Given the description of an element on the screen output the (x, y) to click on. 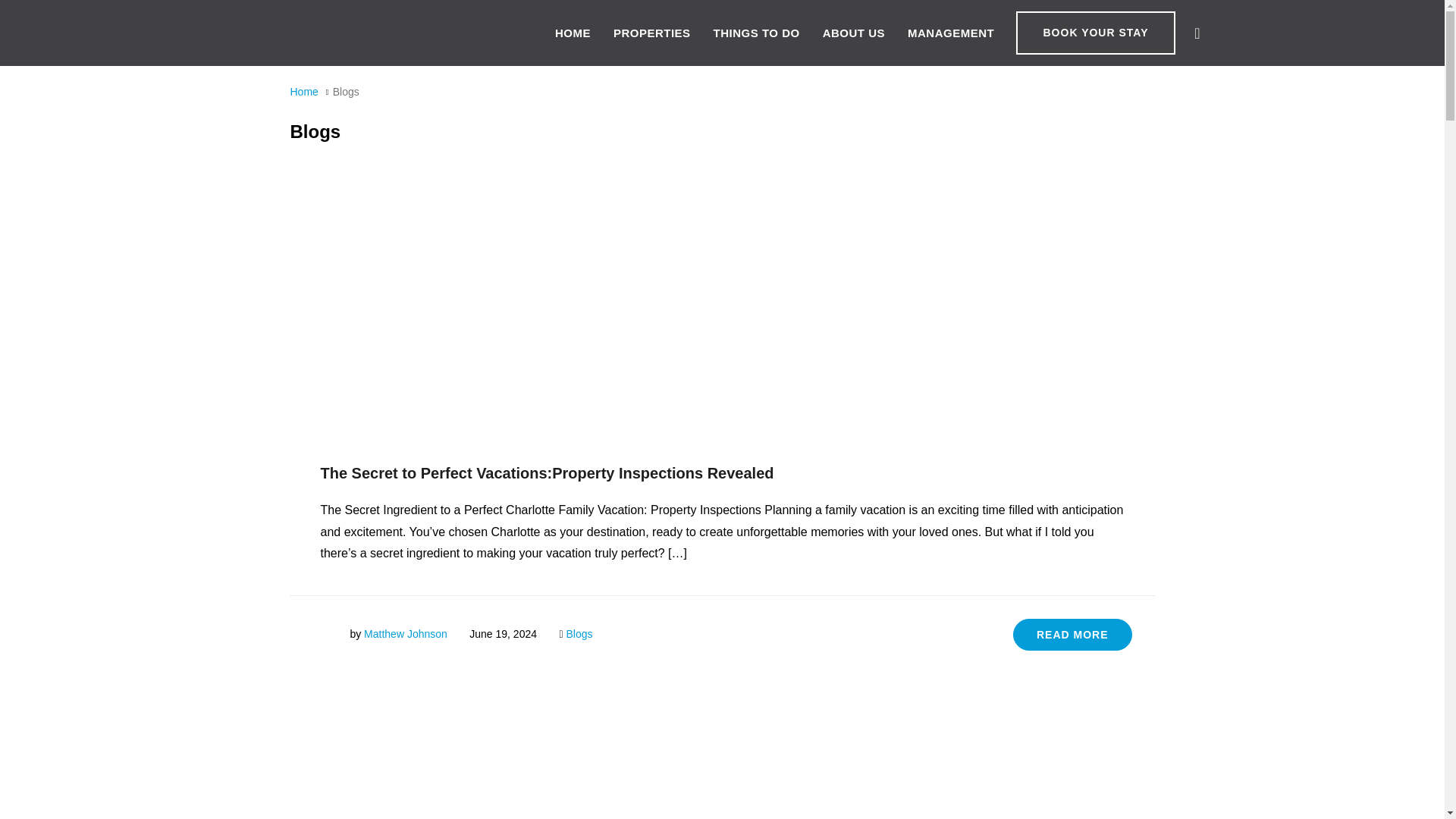
Blogs (579, 633)
ABOUT US (853, 33)
PROPERTIES (651, 33)
MANAGEMENT (950, 33)
Matthew Johnson (405, 633)
HOME (572, 33)
THINGS TO DO (756, 33)
Home (303, 91)
READ MORE (1072, 634)
BOOK YOUR STAY (1095, 32)
